Given the description of an element on the screen output the (x, y) to click on. 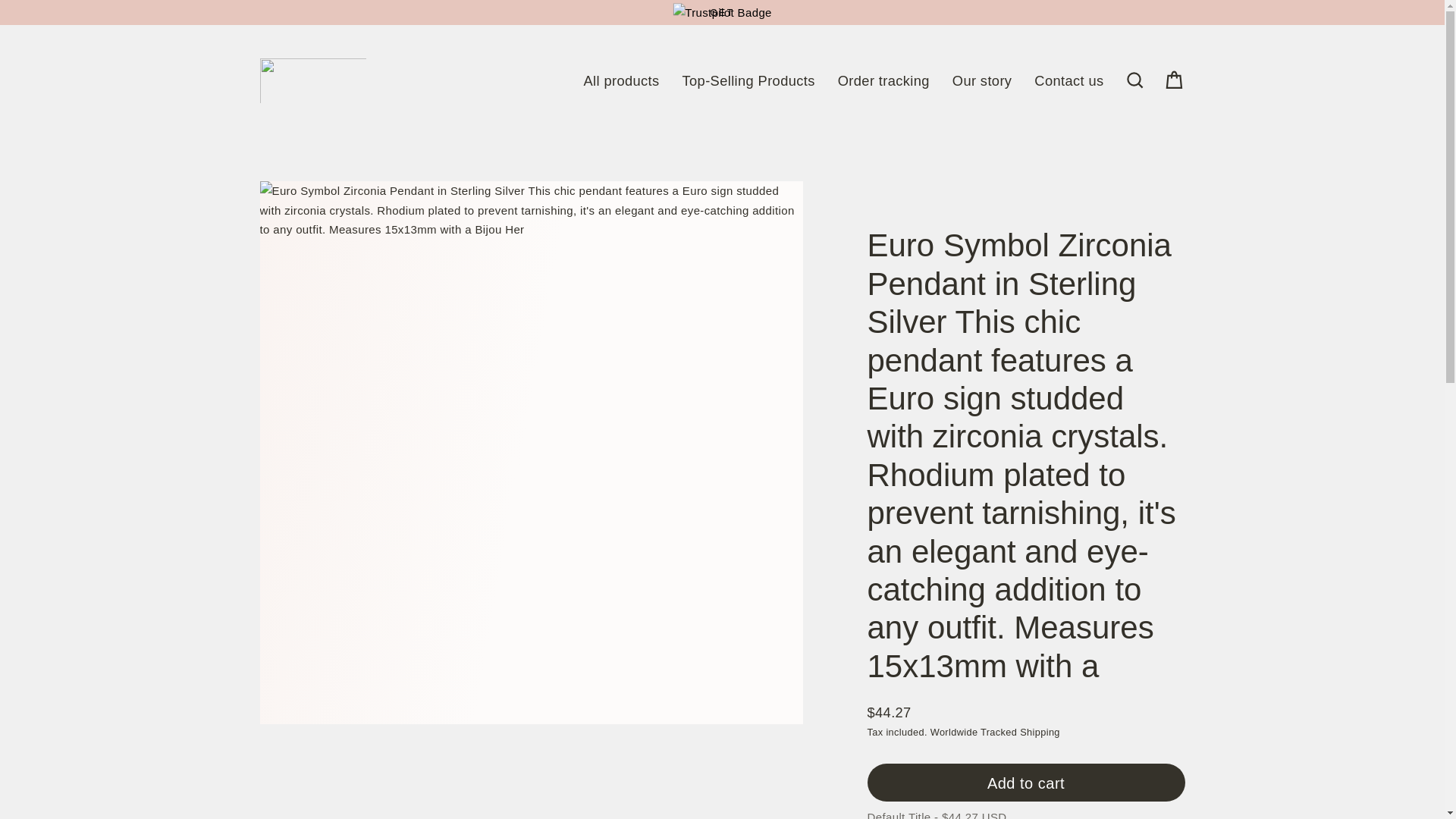
Top-Selling Products (749, 80)
Order tracking (883, 80)
Contact us (1069, 80)
All products (621, 80)
Our story (981, 80)
